Given the description of an element on the screen output the (x, y) to click on. 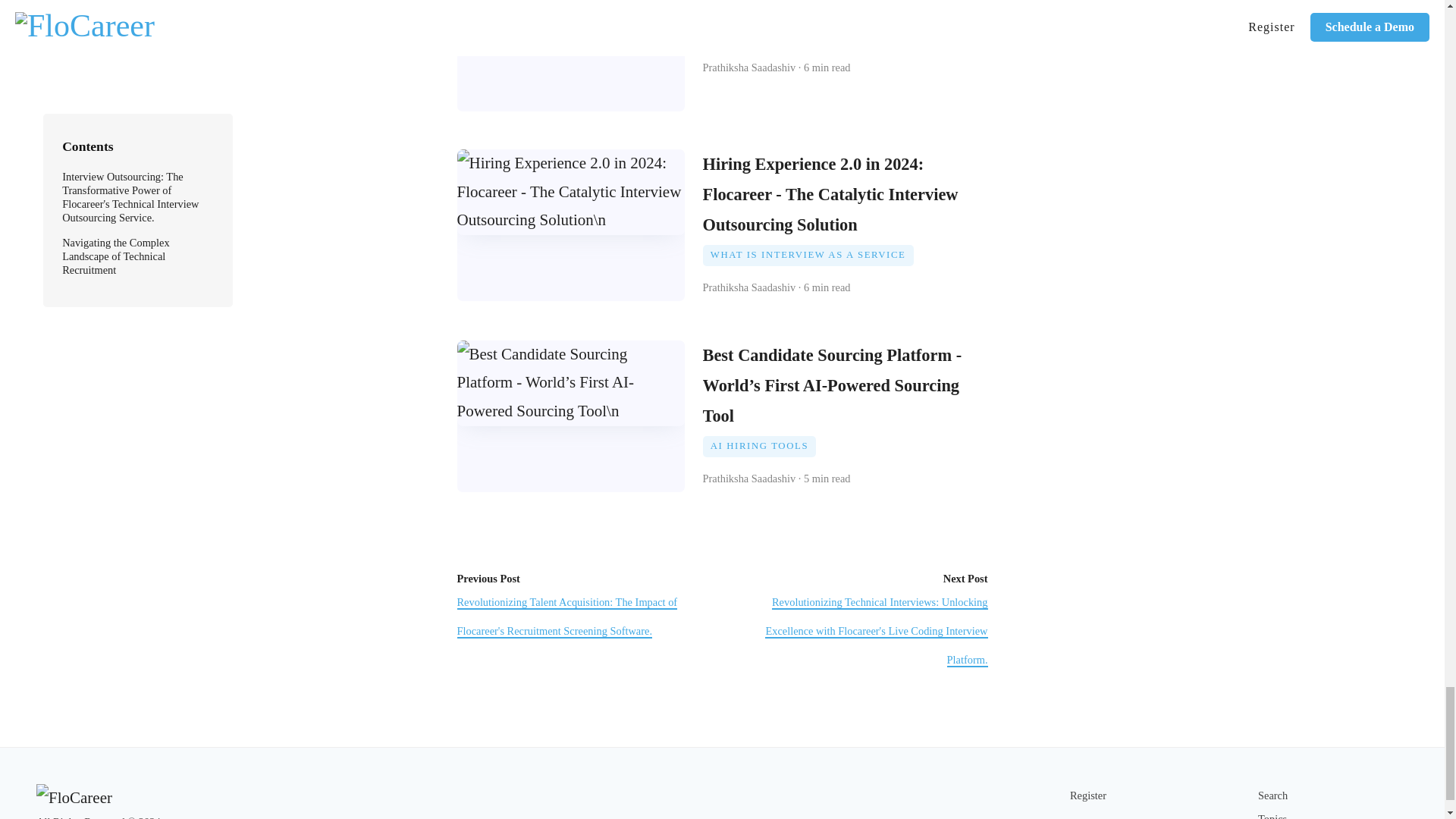
Topics (1272, 816)
Search (1272, 795)
Register (1088, 795)
